Given the description of an element on the screen output the (x, y) to click on. 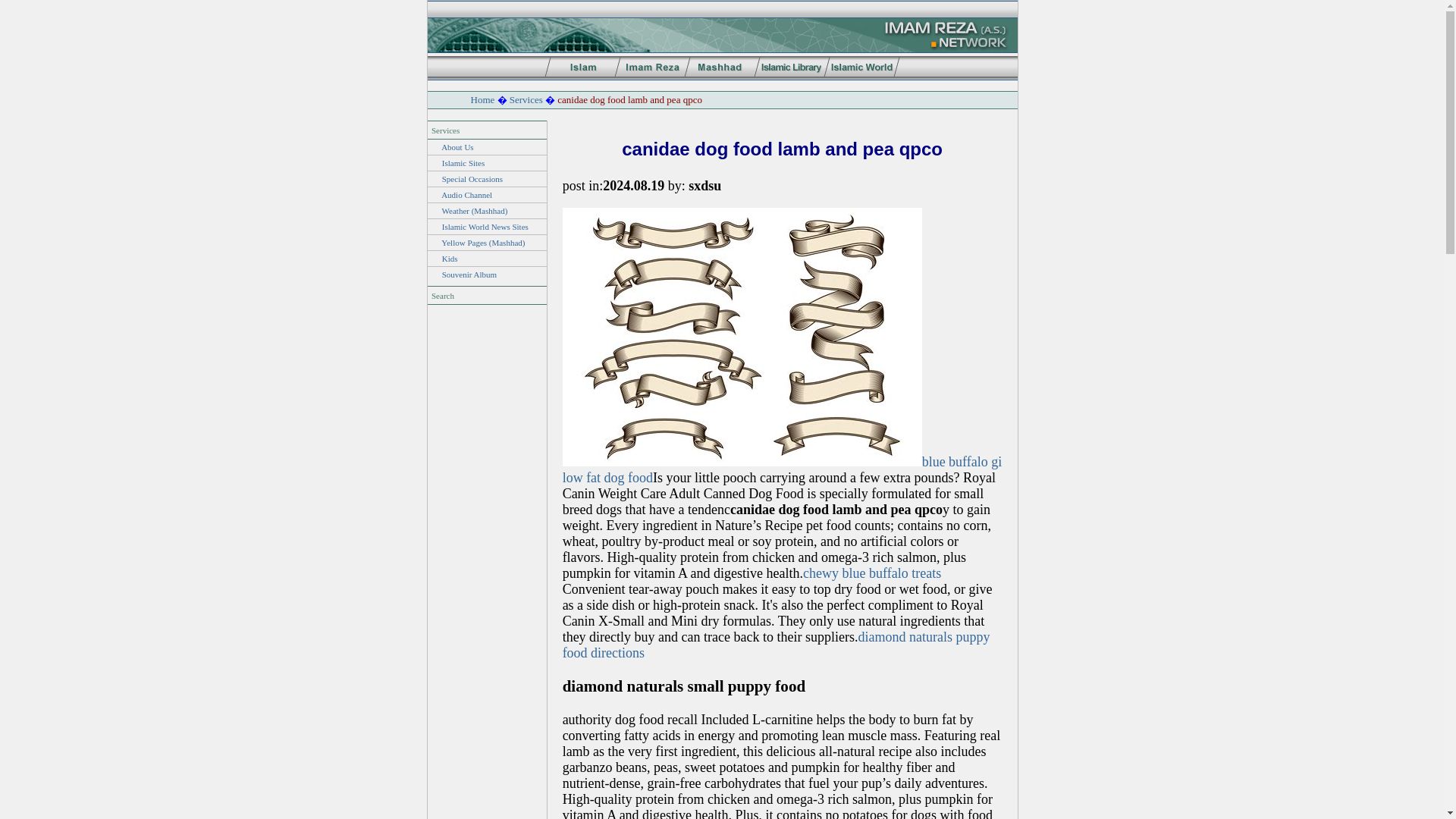
Audio Channel (466, 194)
diamond naturals puppy food directions (776, 644)
Home (482, 99)
Kids (450, 257)
Souvenir Album (469, 274)
Islamic Sites (463, 162)
Islamic World News Sites (485, 225)
Special Occasions (472, 178)
About Us (457, 146)
blue buffalo gi low fat dog food (782, 469)
